Given the description of an element on the screen output the (x, y) to click on. 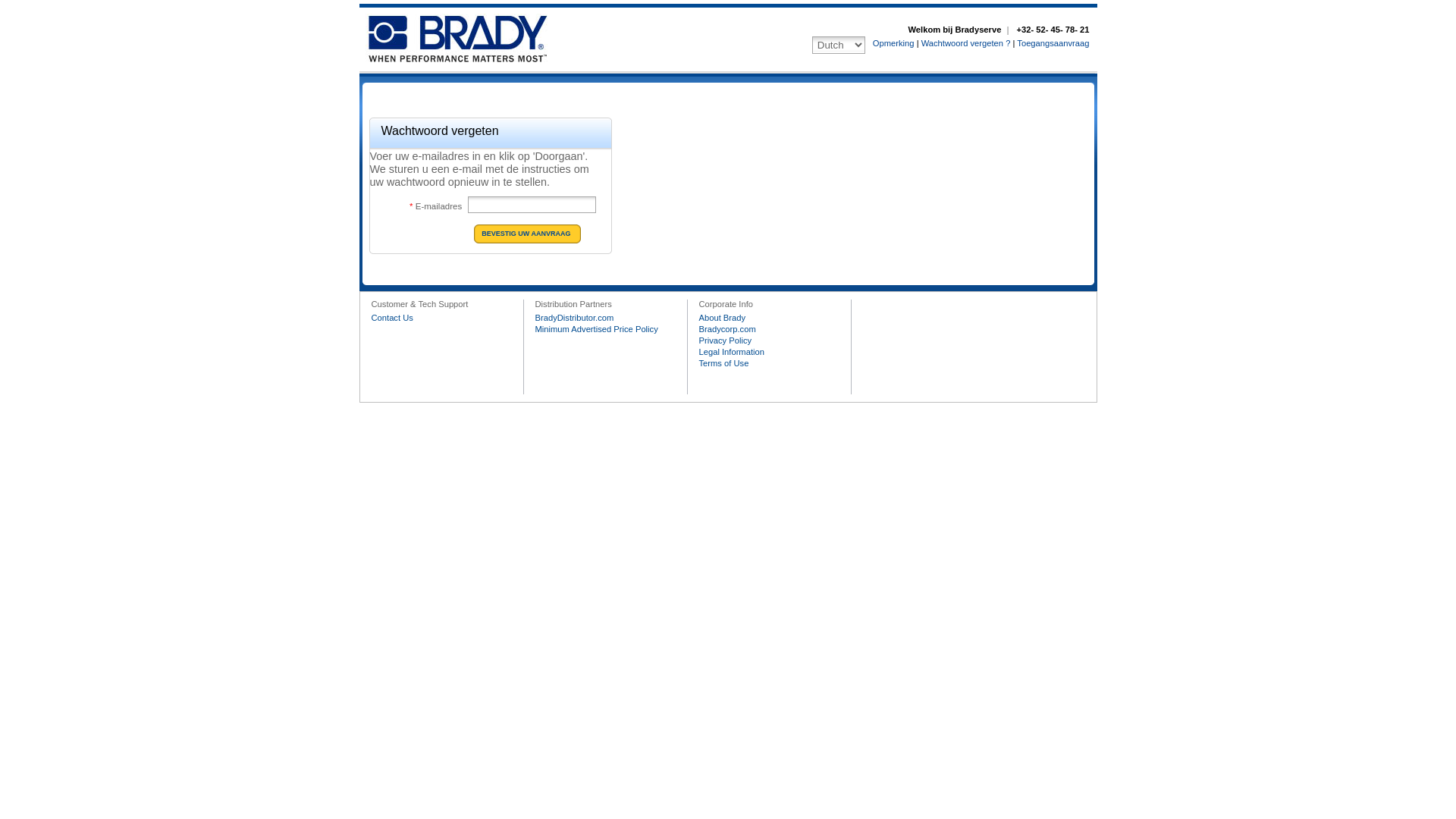
BradyDistributor.com Element type: text (574, 317)
Legal Information Element type: text (731, 351)
BEVESTIG UW AANVRAAG Element type: text (525, 233)
Bradycorp.com Element type: text (727, 328)
About Brady Element type: text (722, 317)
Contact Us Element type: text (392, 317)
Privacy Policy Element type: text (725, 340)
Opmerking Element type: text (893, 42)
Wachtwoord vergeten ? Element type: text (965, 42)
Terms of Use Element type: text (724, 362)
Minimum Advertised Price Policy Element type: text (596, 328)
GO Element type: hover (525, 233)
Toegangsaanvraag Element type: text (1052, 42)
